Given the description of an element on the screen output the (x, y) to click on. 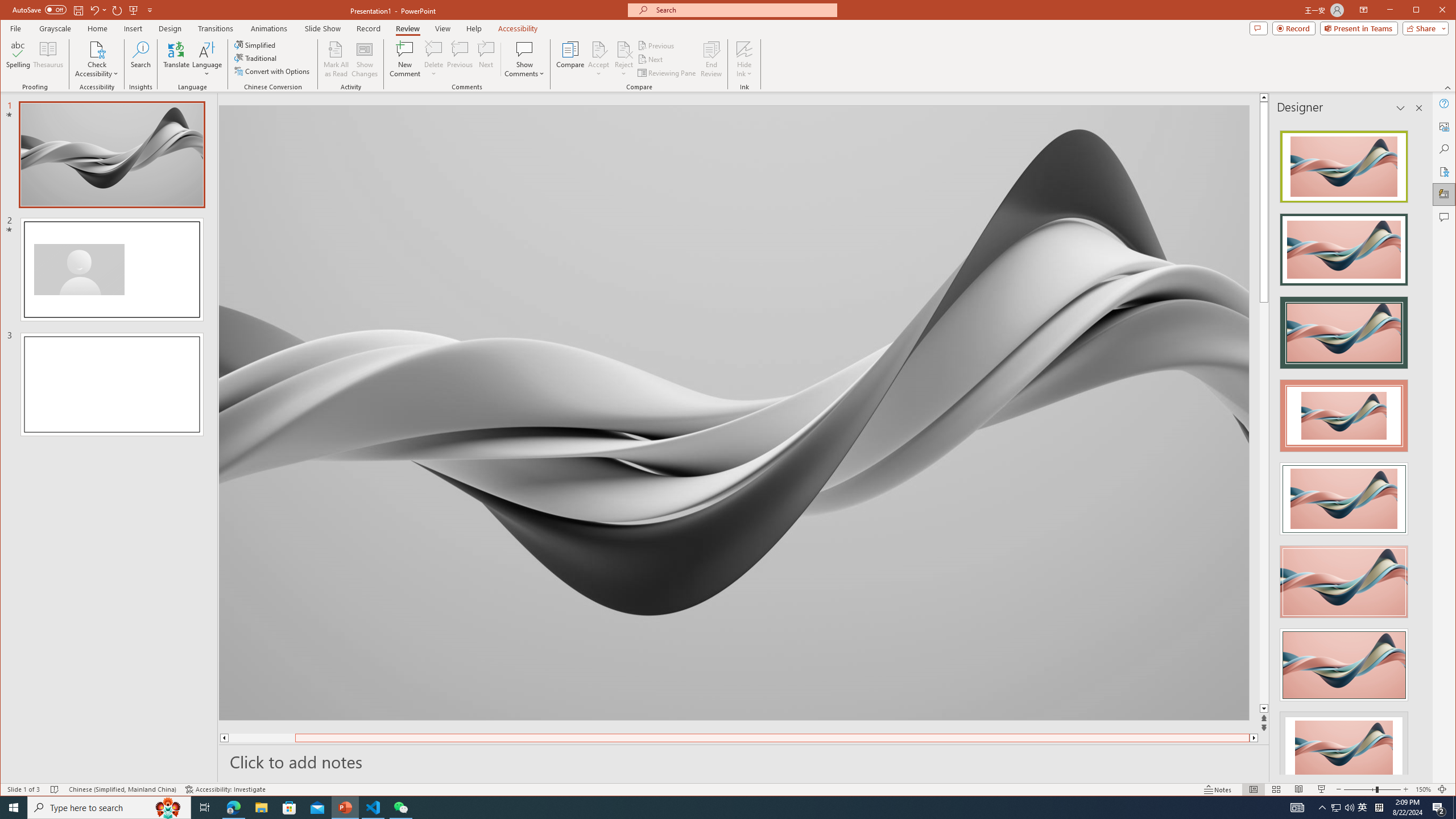
Accept Change (598, 48)
Show Changes (365, 59)
Zoom 150% (1422, 789)
WeChat - 1 running window (400, 807)
